Given the description of an element on the screen output the (x, y) to click on. 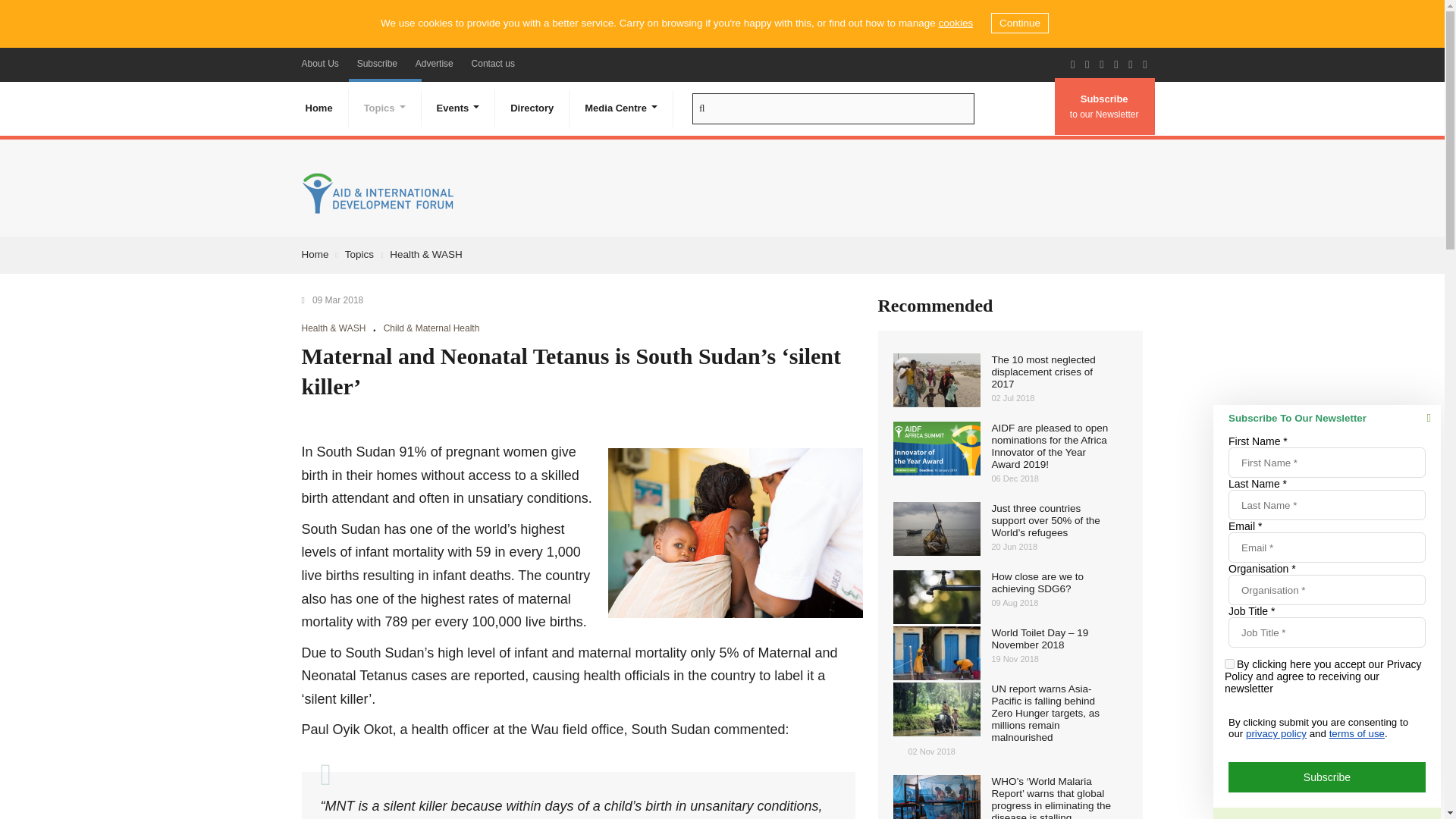
About Us (320, 63)
cookies (954, 22)
Contact us (493, 63)
Topics... (385, 108)
Advertise (434, 63)
Subscribe (376, 63)
Home (318, 108)
